Given the description of an element on the screen output the (x, y) to click on. 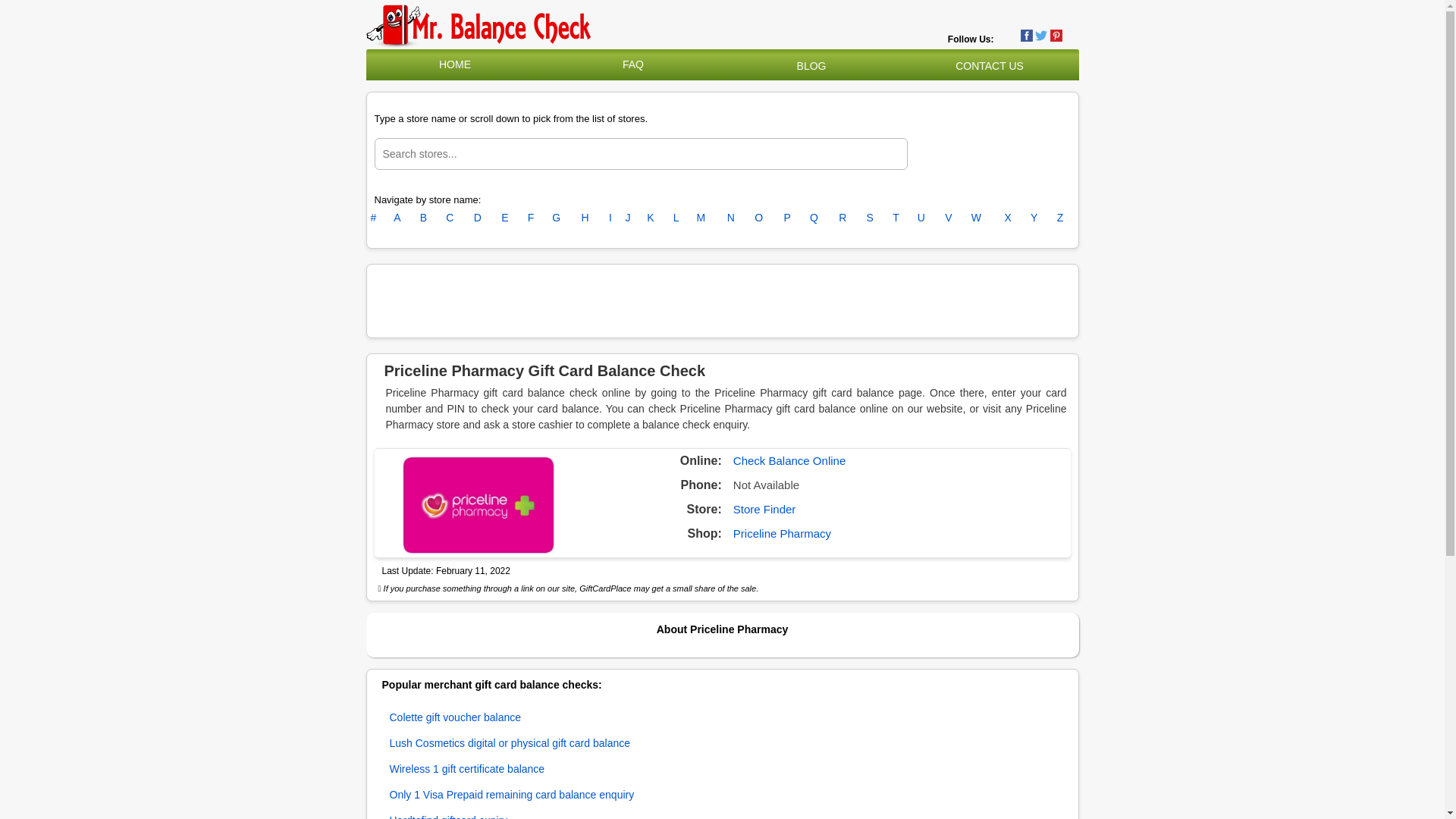
R Element type: text (842, 217)
Y Element type: text (1033, 217)
Priceline Pharmacy Element type: hover (478, 504)
Q Element type: text (813, 217)
S Element type: text (869, 217)
T Element type: text (895, 217)
Twitter Element type: hover (1041, 35)
Wireless 1 gift certificate balance Element type: text (467, 768)
L Element type: text (676, 217)
Check Balance Online Element type: text (789, 460)
V Element type: text (947, 217)
# Element type: text (373, 217)
B Element type: text (423, 217)
Pinterest Element type: hover (1055, 35)
K Element type: text (649, 217)
Facebook Element type: hover (1026, 35)
A Element type: text (396, 217)
Advertisement Element type: hover (721, 298)
O Element type: text (758, 217)
Z Element type: text (1060, 217)
I Element type: text (609, 217)
FAQ Element type: text (632, 64)
M Element type: text (701, 217)
Store Finder Element type: text (764, 508)
G Element type: text (556, 217)
BLOG Element type: text (811, 65)
Priceline Pharmacy Element type: text (782, 533)
W Element type: text (976, 217)
X Element type: text (1007, 217)
C Element type: text (449, 217)
Colette gift voucher balance Element type: text (455, 717)
P Element type: text (786, 217)
CONTACT US Element type: text (989, 65)
Only 1 Visa Prepaid remaining card balance enquiry Element type: text (511, 794)
MrBalanceCheck Logo Element type: hover (479, 26)
H Element type: text (585, 217)
F Element type: text (530, 217)
E Element type: text (504, 217)
U Element type: text (921, 217)
D Element type: text (477, 217)
J Element type: text (627, 217)
N Element type: text (730, 217)
Lush Cosmetics digital or physical gift card balance Element type: text (509, 743)
HOME Element type: text (454, 64)
